Given the description of an element on the screen output the (x, y) to click on. 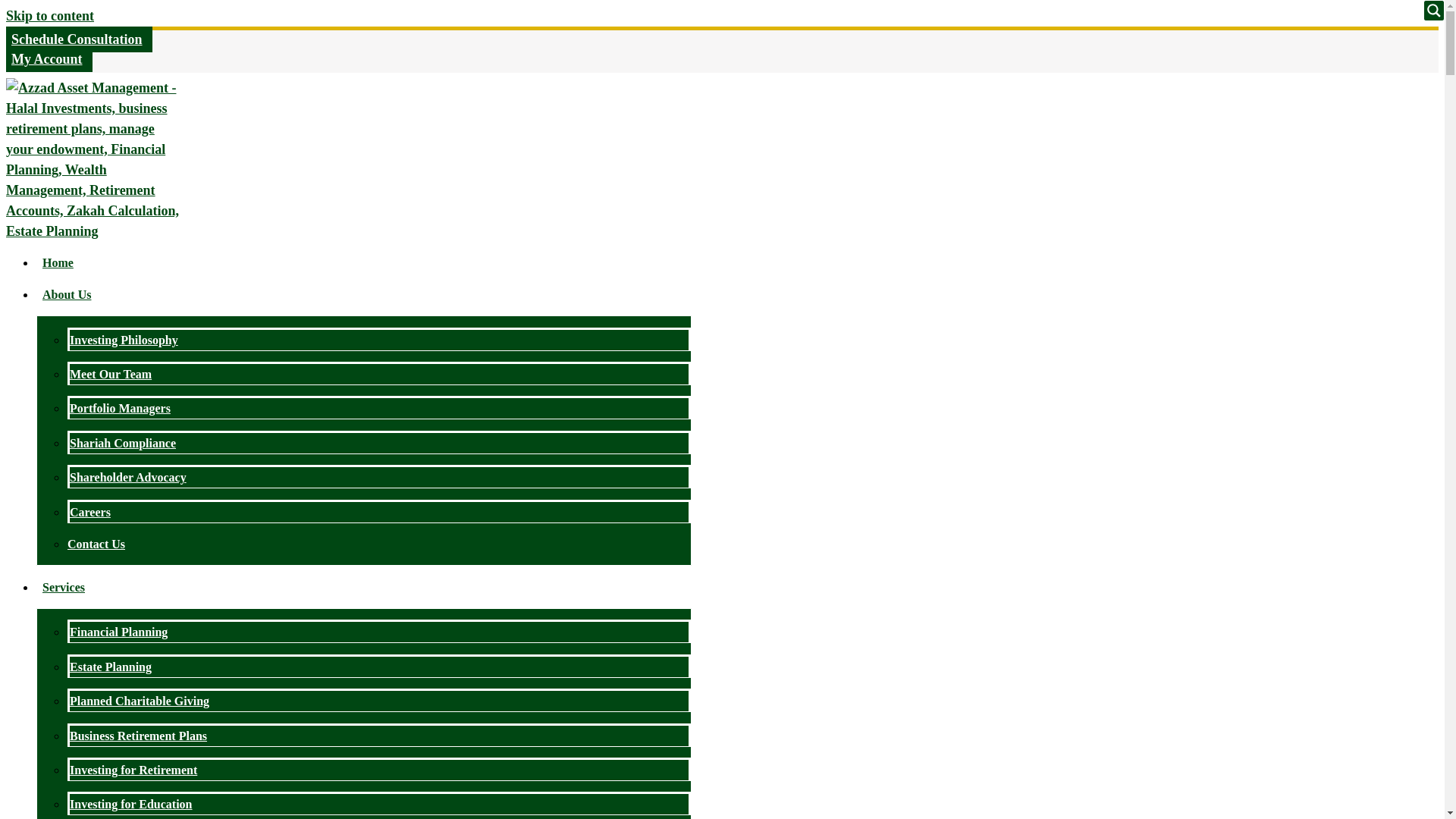
Schedule Consultation (78, 39)
Careers (89, 512)
Investing for Education (130, 803)
Portfolio Managers (119, 408)
My Account (49, 58)
Services (63, 586)
Home (58, 262)
Planned Charitable Giving (139, 700)
Investing for Retirement (132, 769)
Investing Philosophy (123, 339)
Estate Planning (110, 666)
Shariah Compliance (122, 442)
Meet Our Team (110, 373)
Shareholder Advocacy (127, 477)
Financial Planning (118, 631)
